Given the description of an element on the screen output the (x, y) to click on. 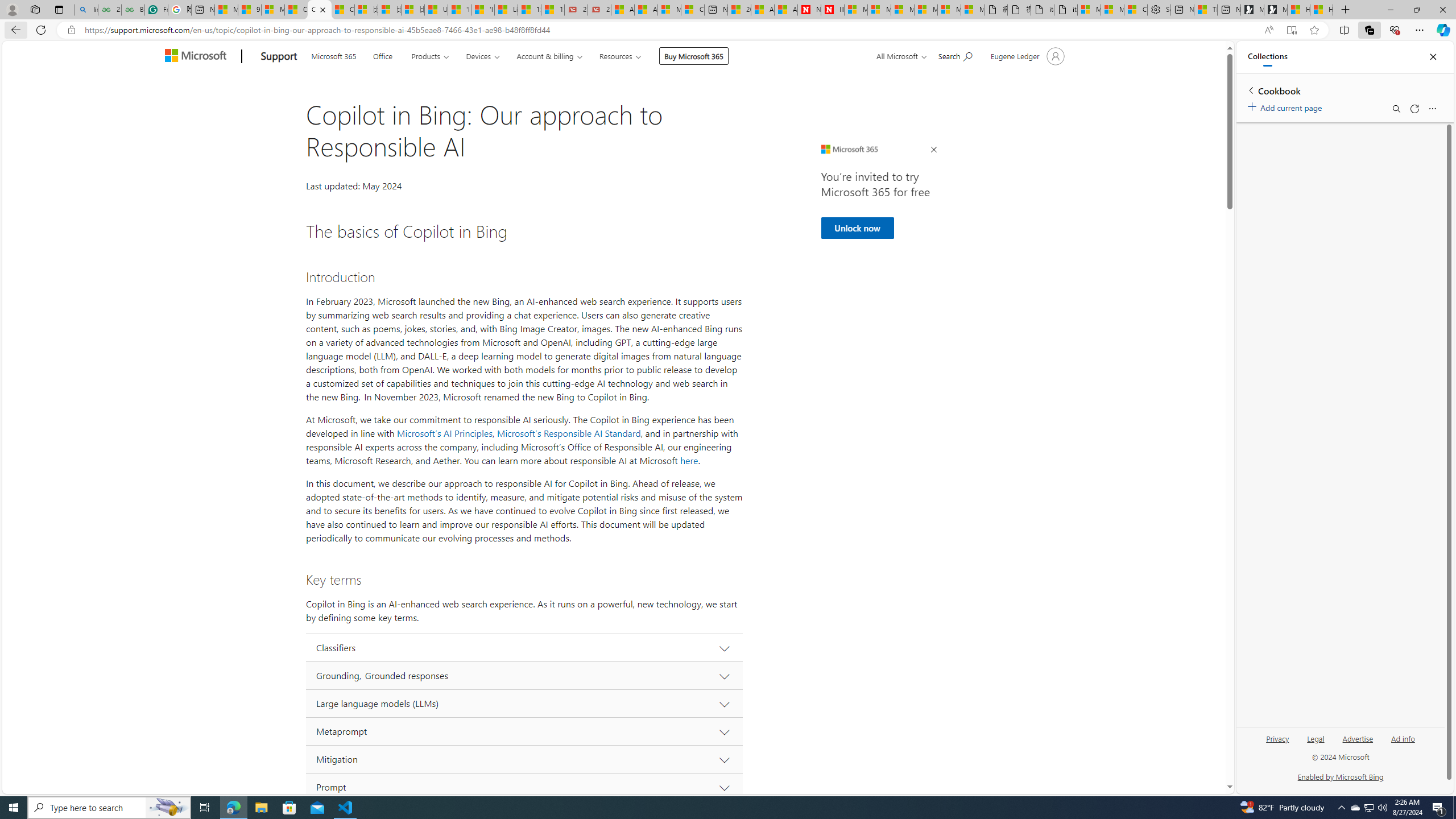
Office (382, 54)
Lifestyle - MSN (505, 9)
Close Ad (933, 149)
linux basic - Search (86, 9)
App bar (728, 29)
Restore (1416, 9)
Newsweek - News, Analysis, Politics, Business, Technology (809, 9)
Microsoft Start Gaming (1275, 9)
Office (382, 54)
Illness news & latest pictures from Newsweek.com (832, 9)
25 Basic Linux Commands For Beginners - GeeksforGeeks (109, 9)
